Given the description of an element on the screen output the (x, y) to click on. 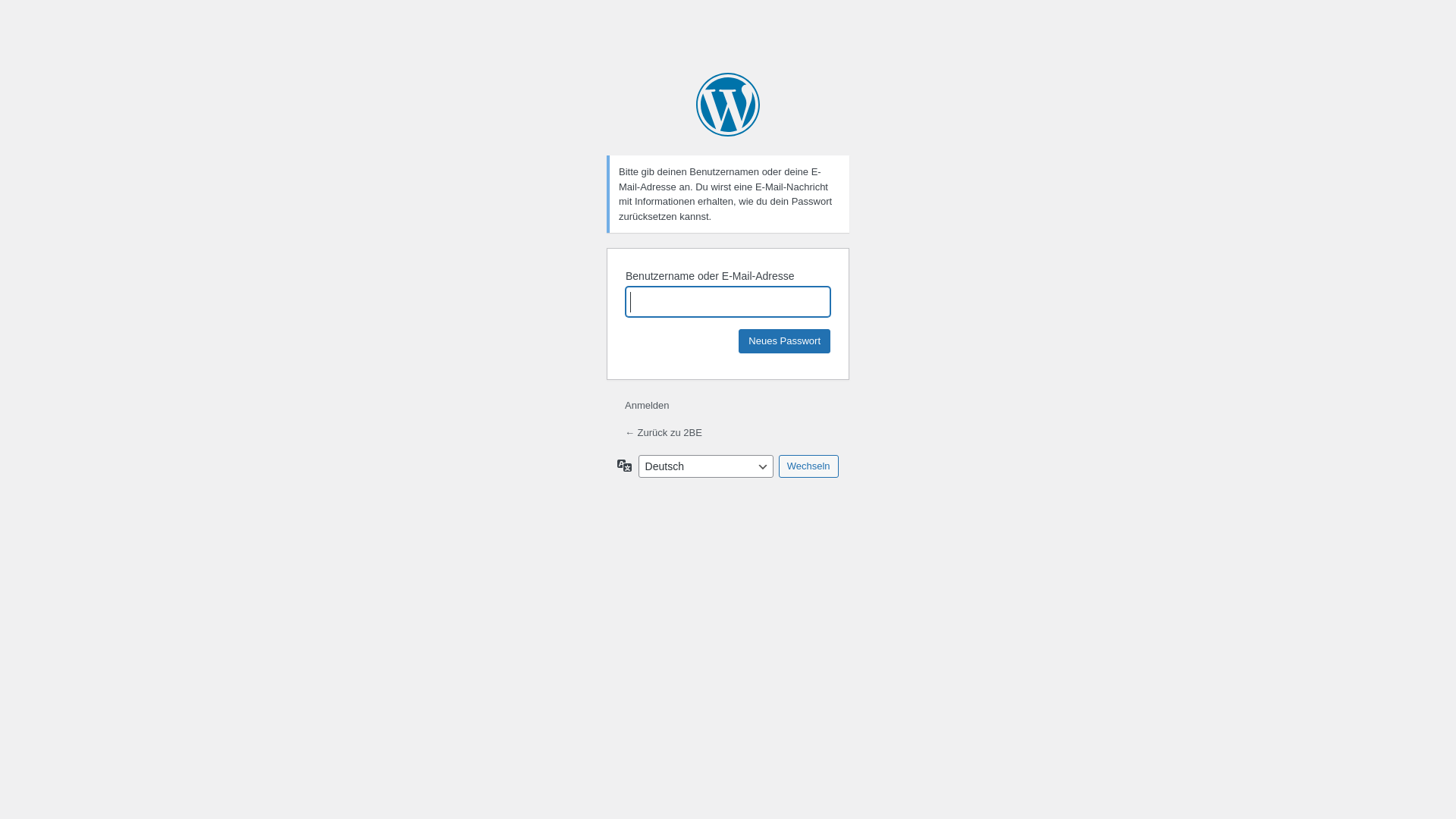
Anmelden Element type: text (646, 405)
Neues Passwort Element type: text (784, 341)
Powered by WordPress Element type: text (727, 104)
Wechseln Element type: text (808, 466)
